Given the description of an element on the screen output the (x, y) to click on. 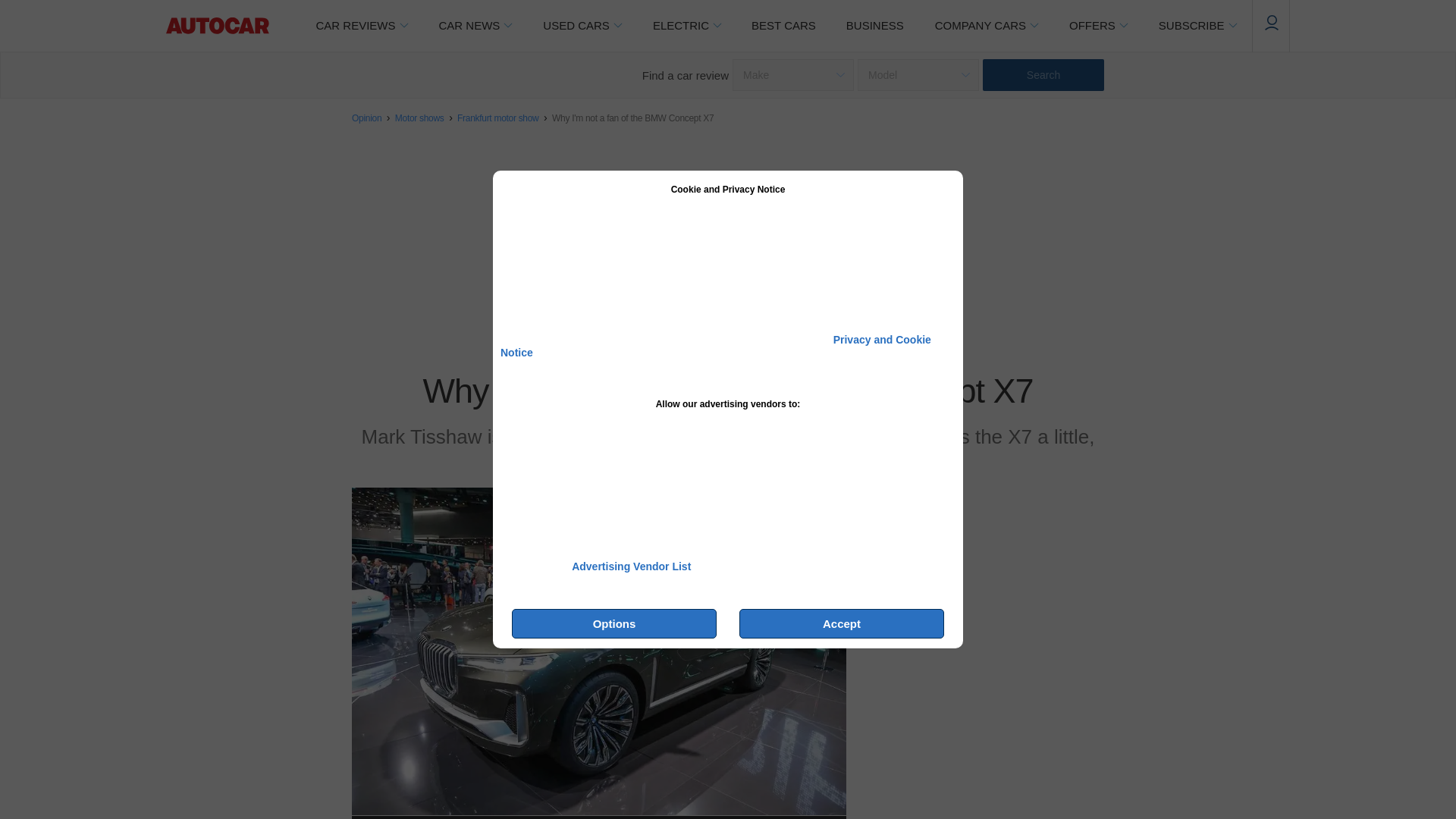
BUSINESS (874, 26)
Home (217, 25)
COMPANY CARS (985, 26)
Top 10 cars by segment (783, 26)
CAR REVIEWS (360, 26)
BEST CARS (783, 26)
SUBSCRIBE (1197, 26)
Search (1042, 74)
Search (1042, 74)
USED CARS (582, 26)
